Given the description of an element on the screen output the (x, y) to click on. 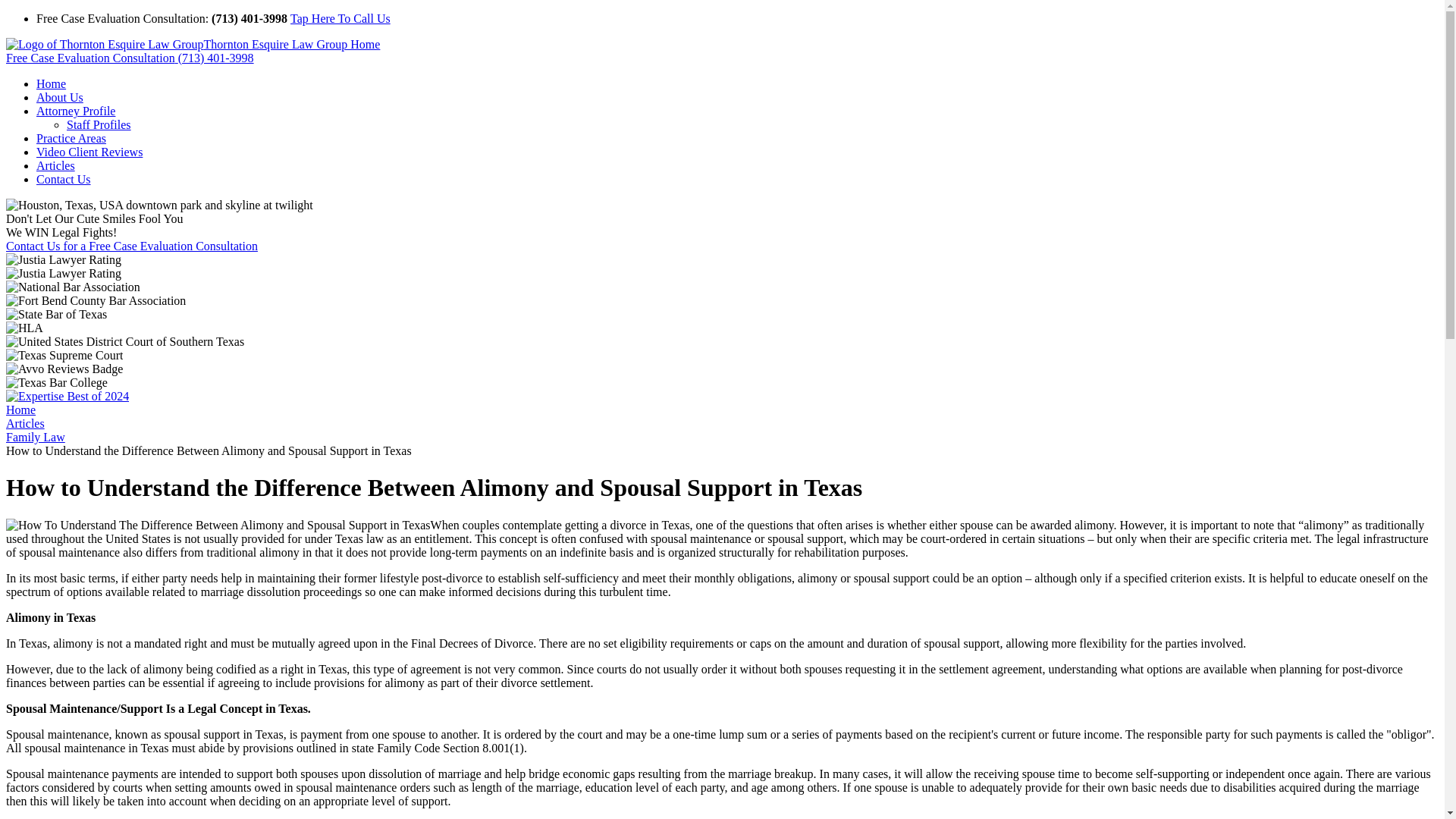
Video Client Reviews (89, 151)
Back to Home (192, 43)
Thornton Esquire Law Group Home (192, 43)
Home (50, 83)
Home (19, 409)
Articles (55, 164)
Contact Us for a Free Case Evaluation Consultation (131, 245)
Staff Profiles (98, 124)
Family Law (35, 436)
Tap Here To Call Us (339, 18)
